Given the description of an element on the screen output the (x, y) to click on. 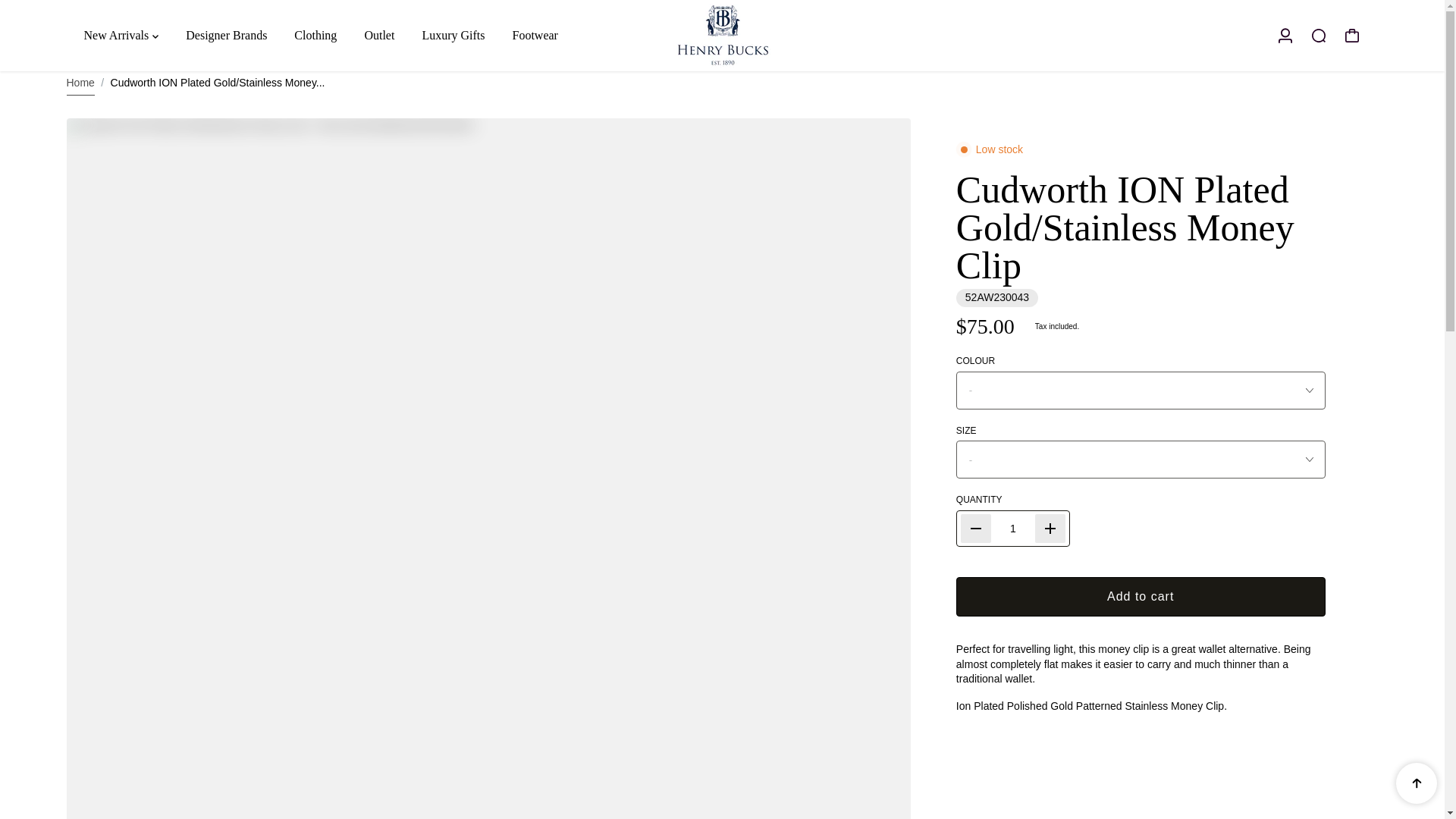
Luxury Gifts (452, 35)
Clothing (315, 35)
Log in (1284, 35)
Home (80, 83)
1 (1013, 528)
Home (80, 83)
Add to cart (1140, 596)
Footwear (534, 35)
Designer Brands (226, 35)
Outlet (379, 35)
New Arrivals (120, 35)
Search (1318, 35)
